Given the description of an element on the screen output the (x, y) to click on. 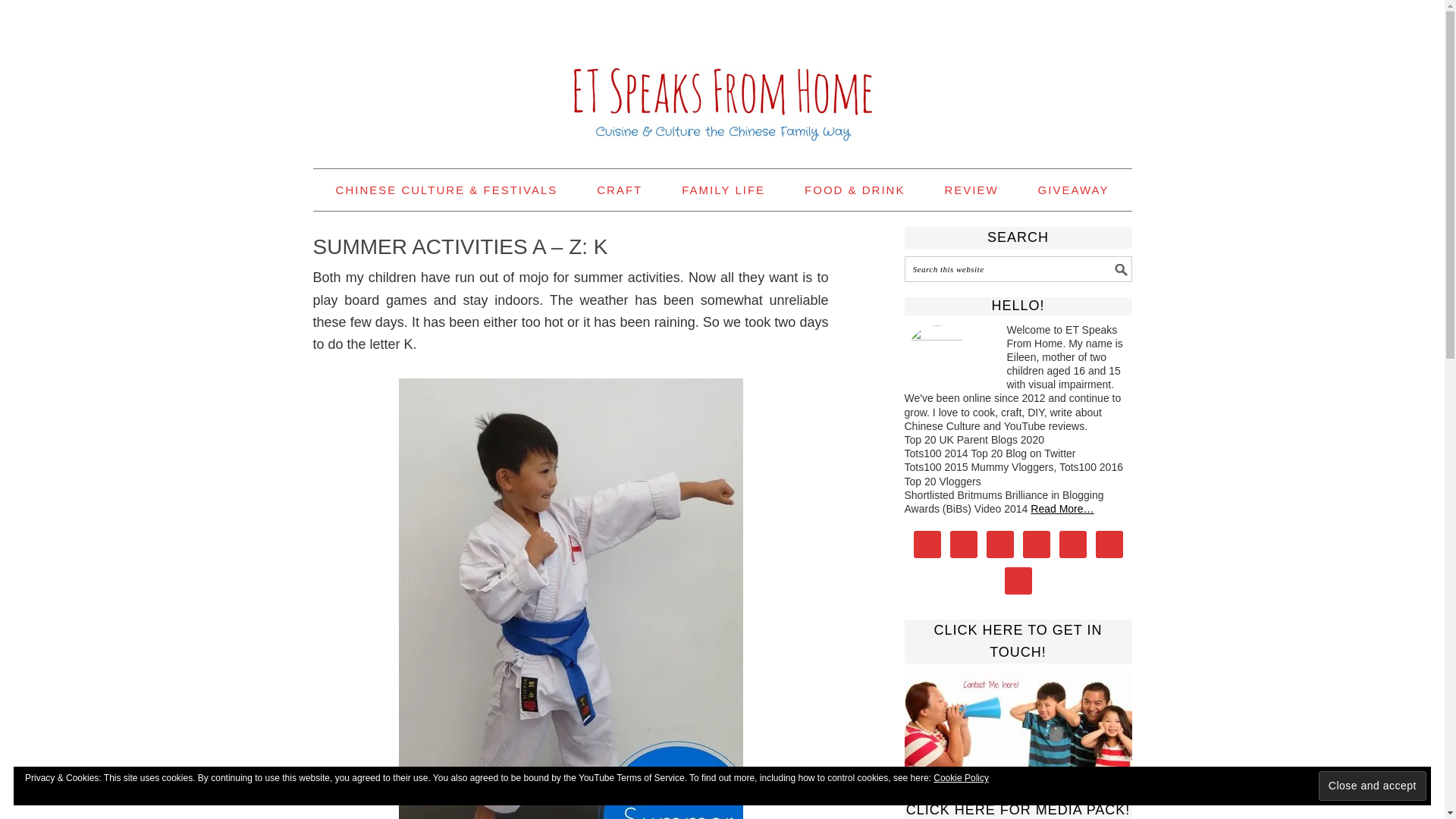
Click here to get in touch! (1017, 718)
CRAFT (619, 189)
FAMILY LIFE (723, 189)
Close and accept (1372, 785)
ET SPEAKS FROM HOME (722, 77)
REVIEW (970, 189)
